Given the description of an element on the screen output the (x, y) to click on. 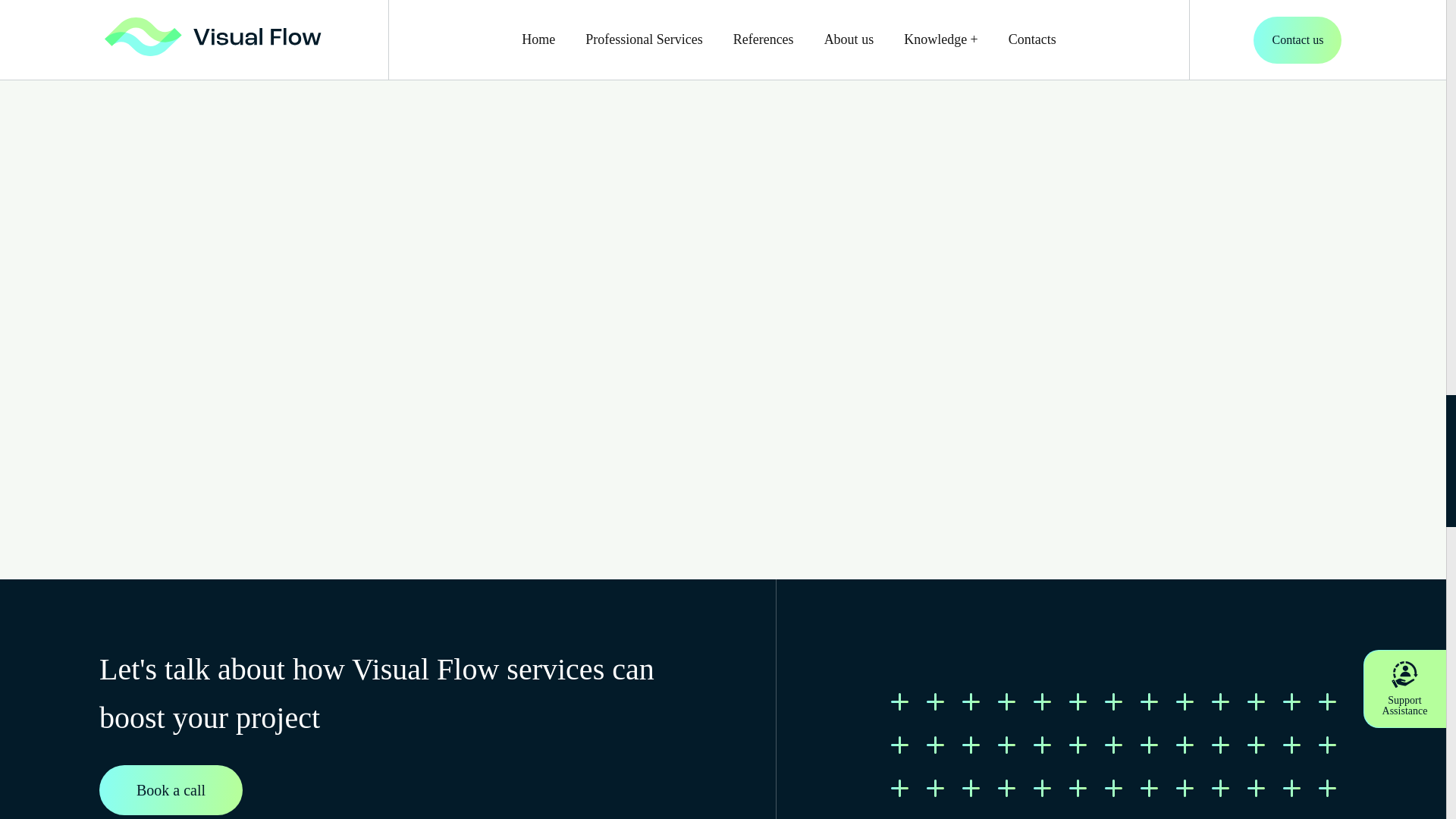
Book a call (171, 789)
